Given the description of an element on the screen output the (x, y) to click on. 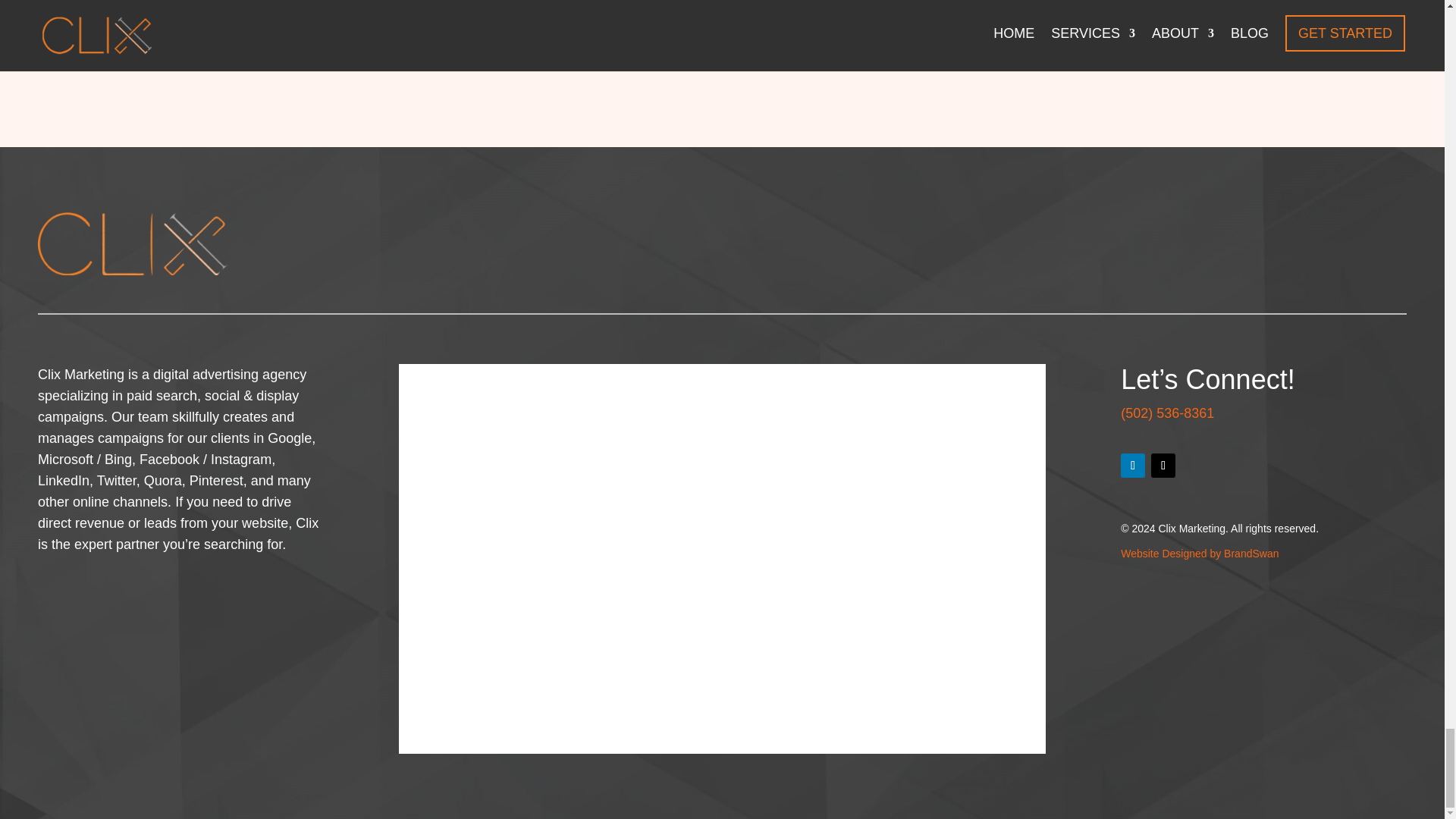
Delaware Web Design by BrandSwan (1199, 553)
Follow on X (1162, 465)
Follow on LinkedIn (1132, 465)
